Given the description of an element on the screen output the (x, y) to click on. 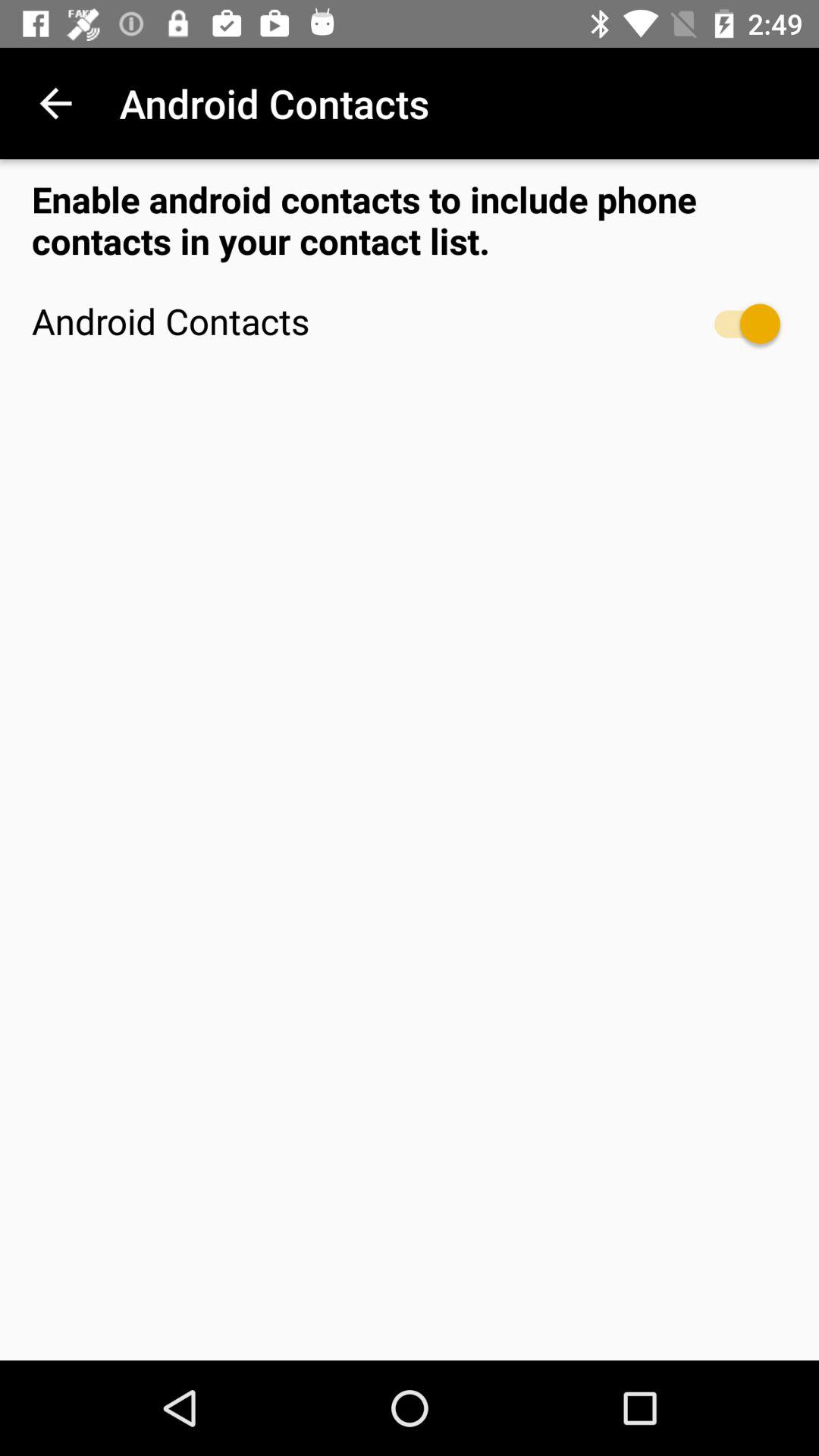
click icon at the top right corner (739, 323)
